Given the description of an element on the screen output the (x, y) to click on. 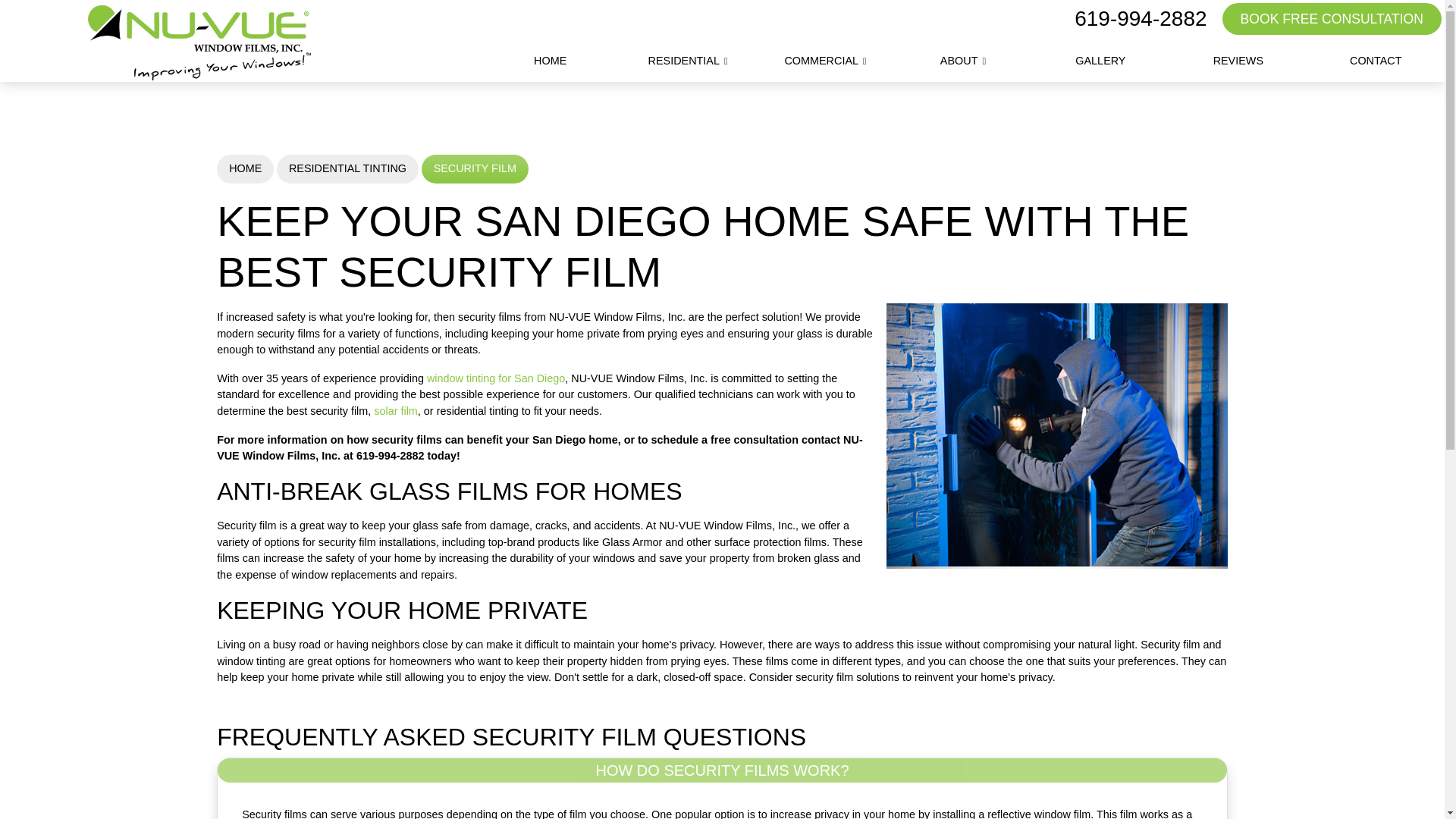
619-994-2882 (1140, 18)
ABOUT (962, 60)
RESIDENTIAL (687, 60)
HOME (549, 60)
BOOK FREE CONSULTATION (1332, 19)
COMMERCIAL (824, 60)
